Given the description of an element on the screen output the (x, y) to click on. 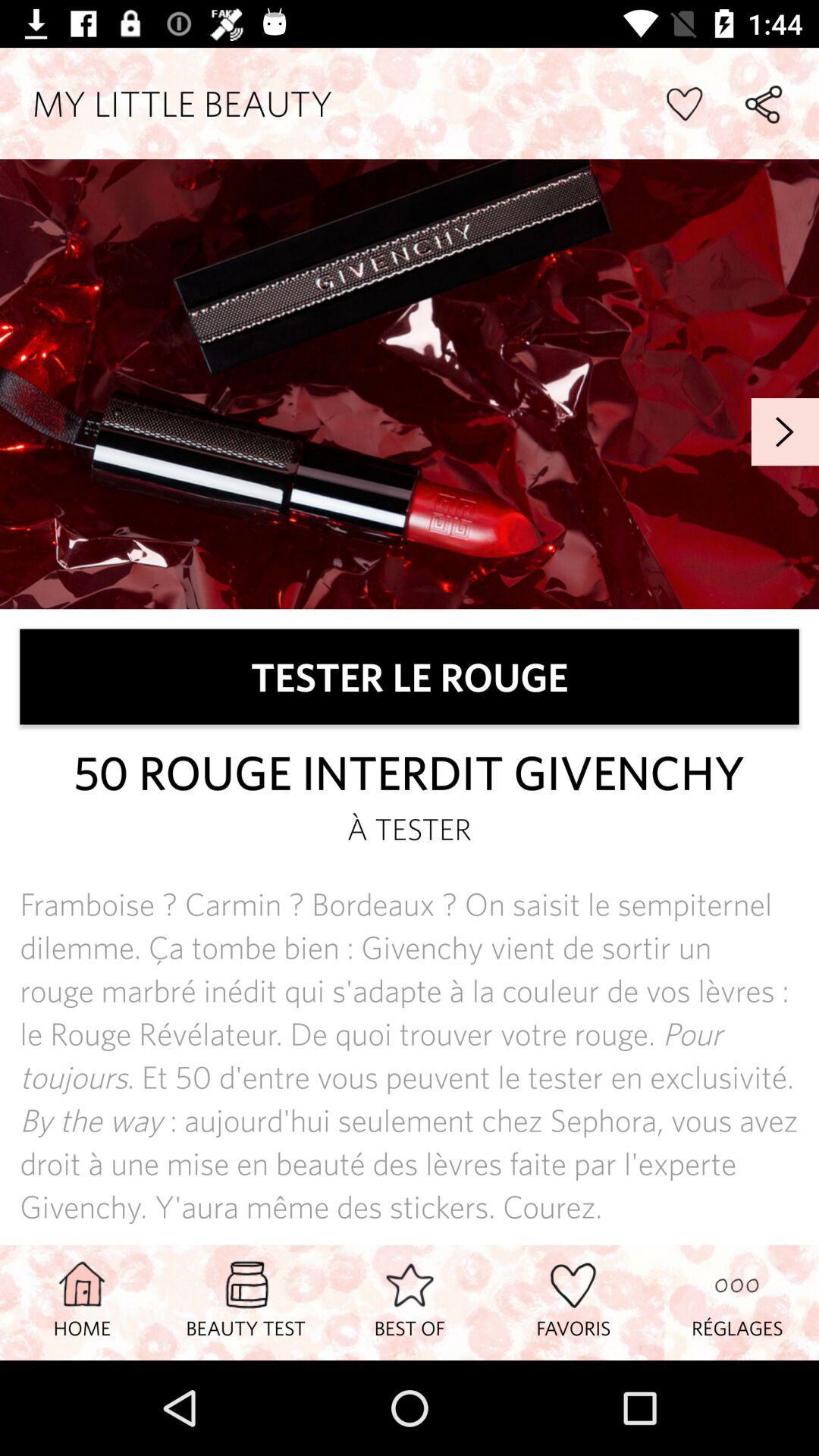
mark as favorite (683, 103)
